Given the description of an element on the screen output the (x, y) to click on. 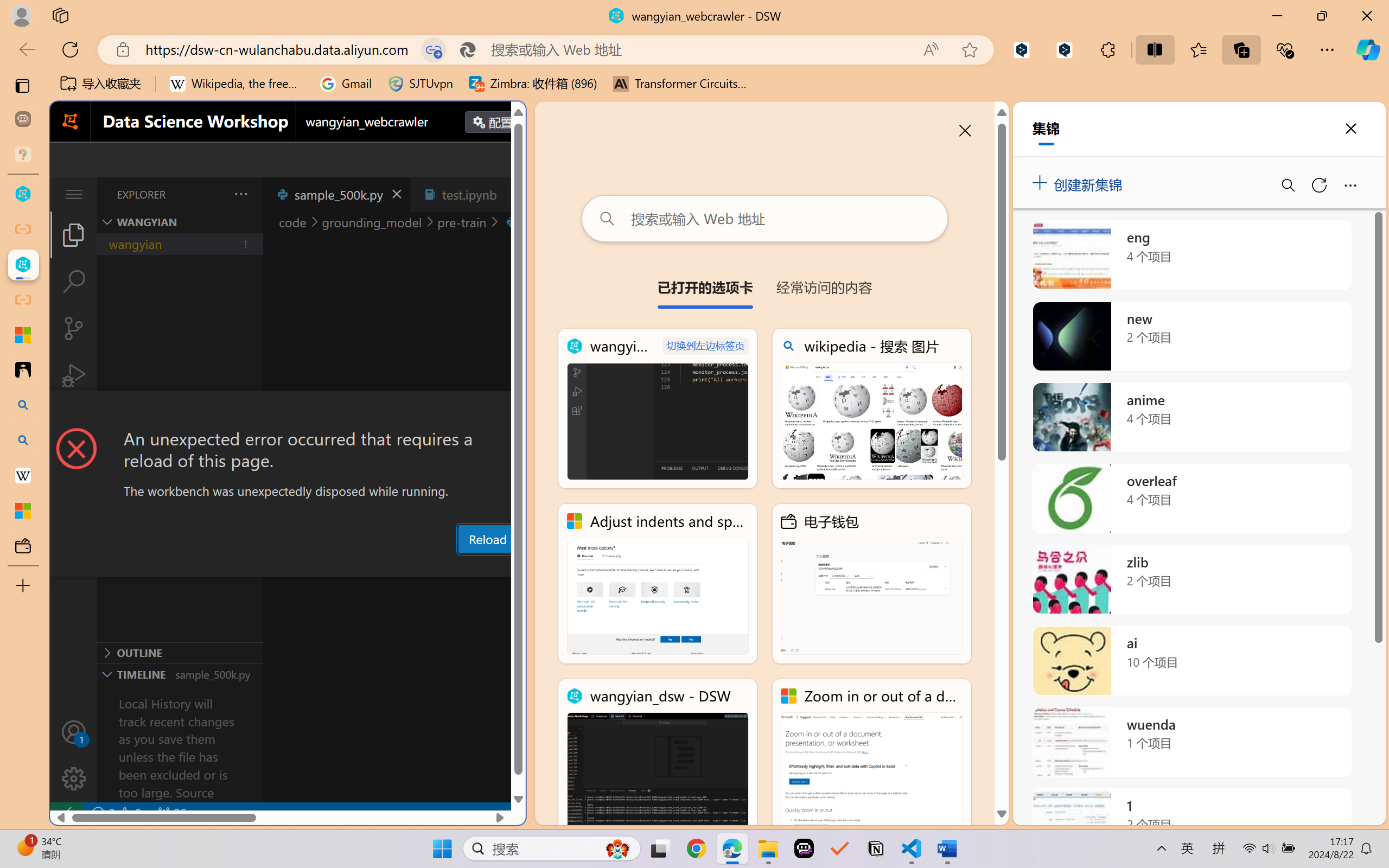
wangyian_webcrawler - DSW (657, 408)
Adjust indents and spacing - Microsoft Support (657, 583)
Gmail (345, 83)
Application Menu (73, 194)
Timeline Section (179, 673)
Problems (Ctrl+Shift+M) (308, 565)
Explorer actions (212, 194)
